Given the description of an element on the screen output the (x, y) to click on. 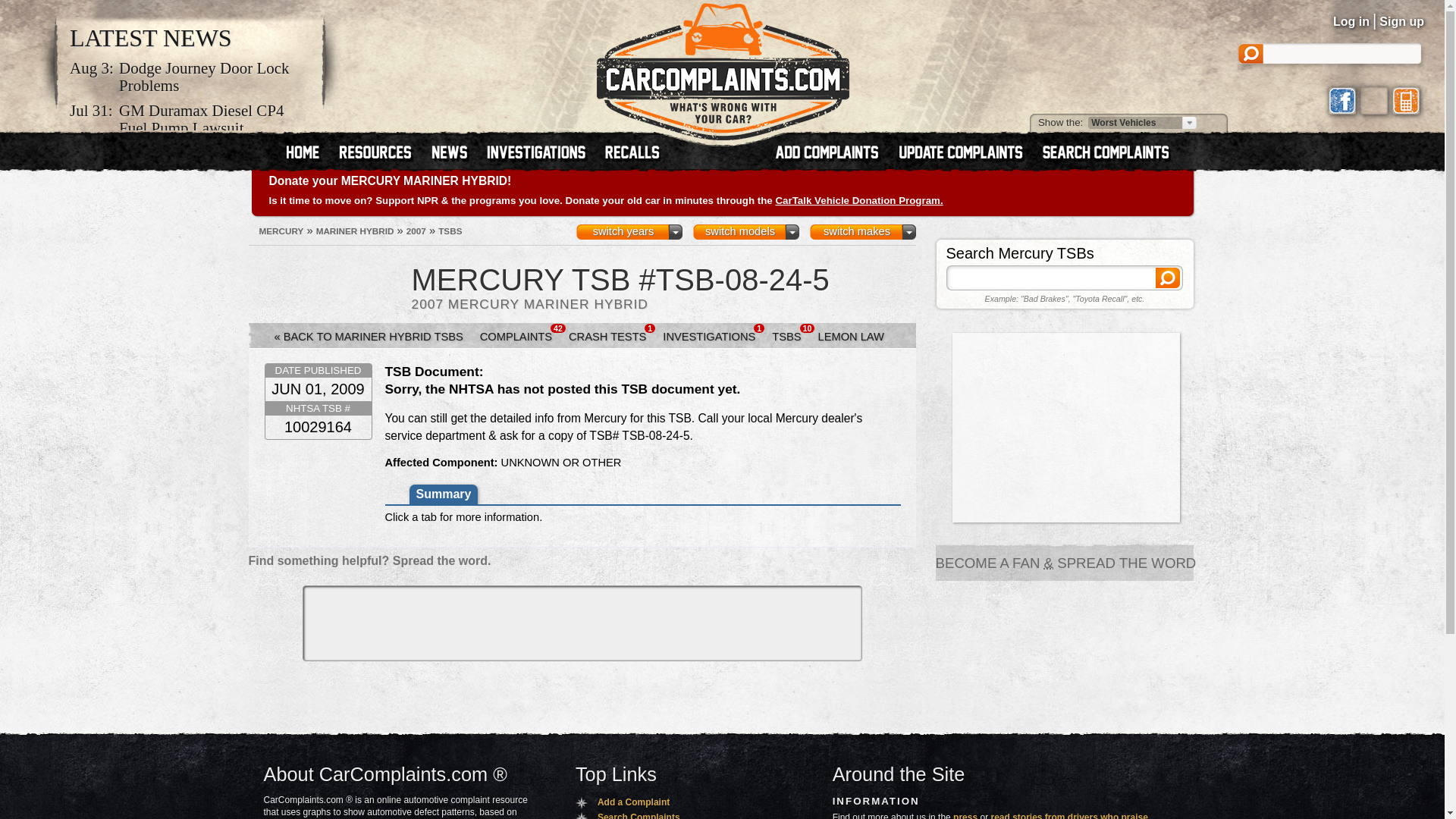
search car problems (1111, 153)
car defect investigations (542, 153)
view car problems (309, 153)
add car complaints (833, 153)
switch makes (862, 231)
Sign up (1400, 21)
car problem resources (381, 153)
Car Complaint and Recall News (150, 37)
GM Duramax Diesel CP4 Fuel Pump Lawsuit Settlement (216, 128)
GM Duramax Diesel CP4 Fuel Pump Lawsuit Settlement (216, 128)
Go (1213, 123)
Dodge Journey Door Lock Problems Investigated (216, 77)
Log in (1351, 21)
Dodge Journey Door Lock Problems (216, 77)
2007 (416, 230)
